Given the description of an element on the screen output the (x, y) to click on. 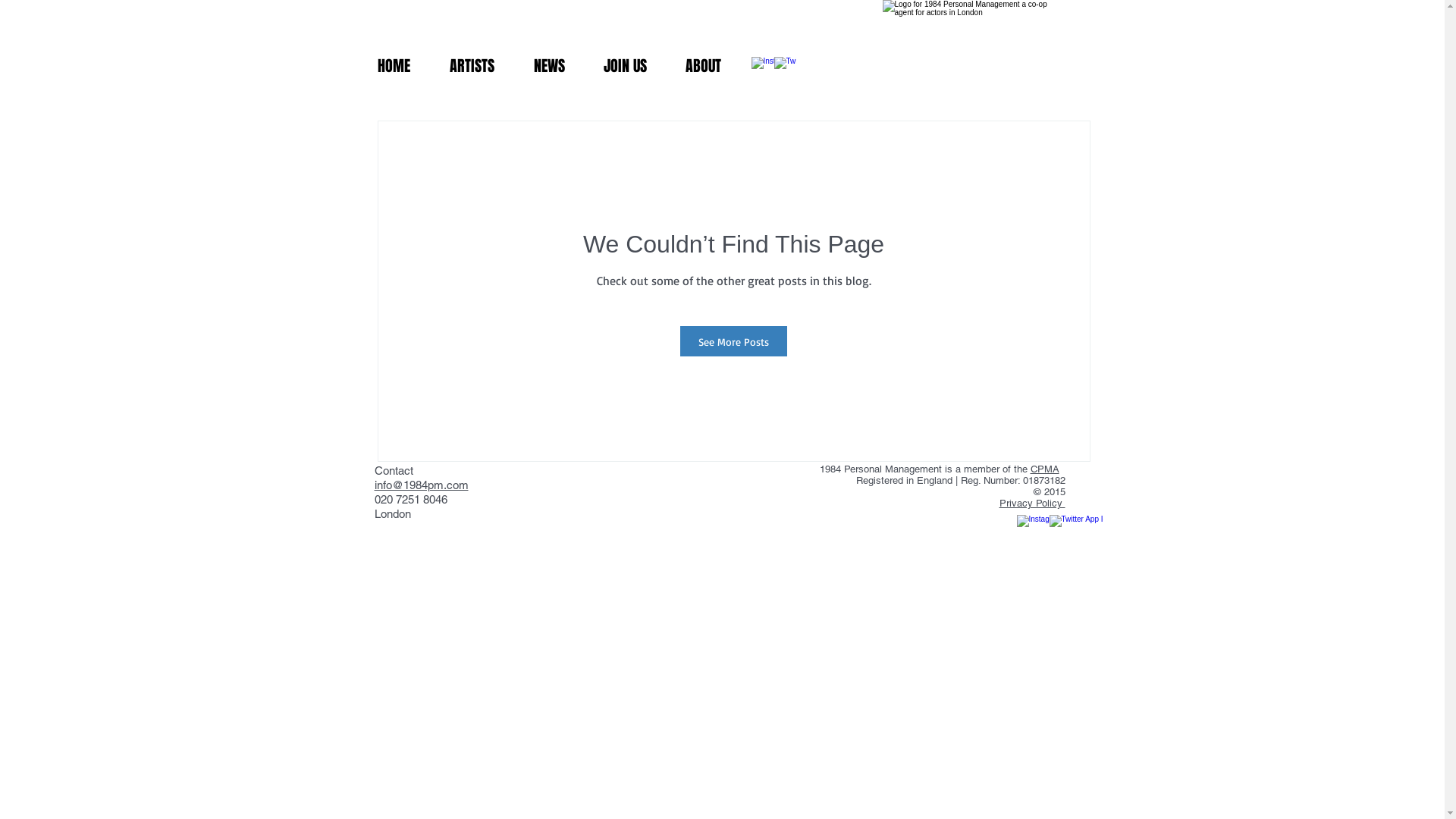
ARTISTS Element type: text (471, 65)
NEWS Element type: text (549, 65)
ABOUT Element type: text (702, 65)
CPMA Element type: text (1043, 468)
See More Posts Element type: text (733, 341)
info@1984pm.com Element type: text (421, 484)
JOIN US Element type: text (624, 65)
HOME Element type: text (393, 65)
Privacy Policy  Element type: text (1032, 502)
